Given the description of an element on the screen output the (x, y) to click on. 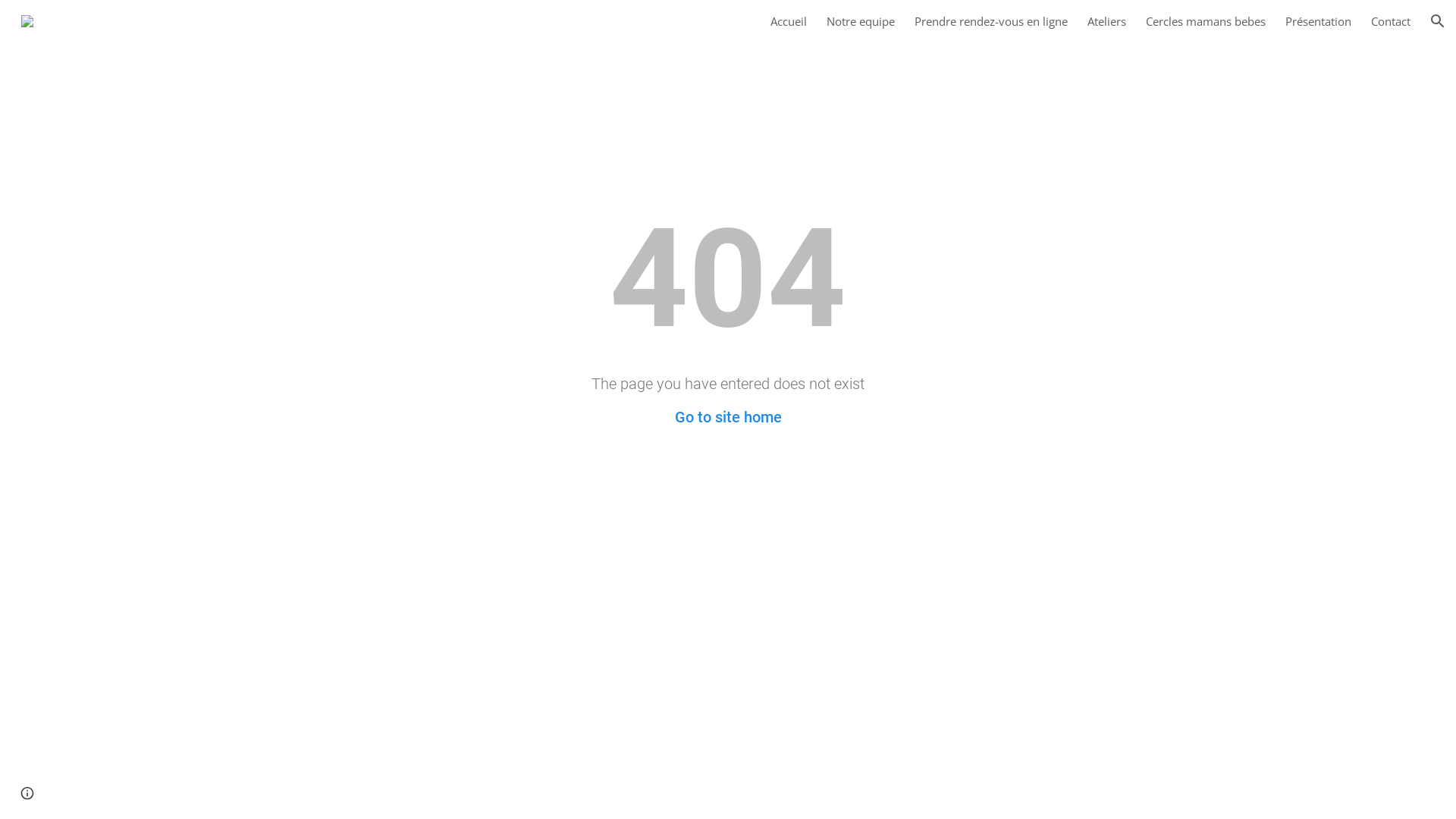
Ateliers Element type: text (1106, 20)
Go to site home Element type: text (727, 416)
Cercles mamans bebes Element type: text (1205, 20)
Notre equipe Element type: text (860, 20)
Contact Element type: text (1390, 20)
Prendre rendez-vous en ligne Element type: text (990, 20)
Accueil Element type: text (788, 20)
